Given the description of an element on the screen output the (x, y) to click on. 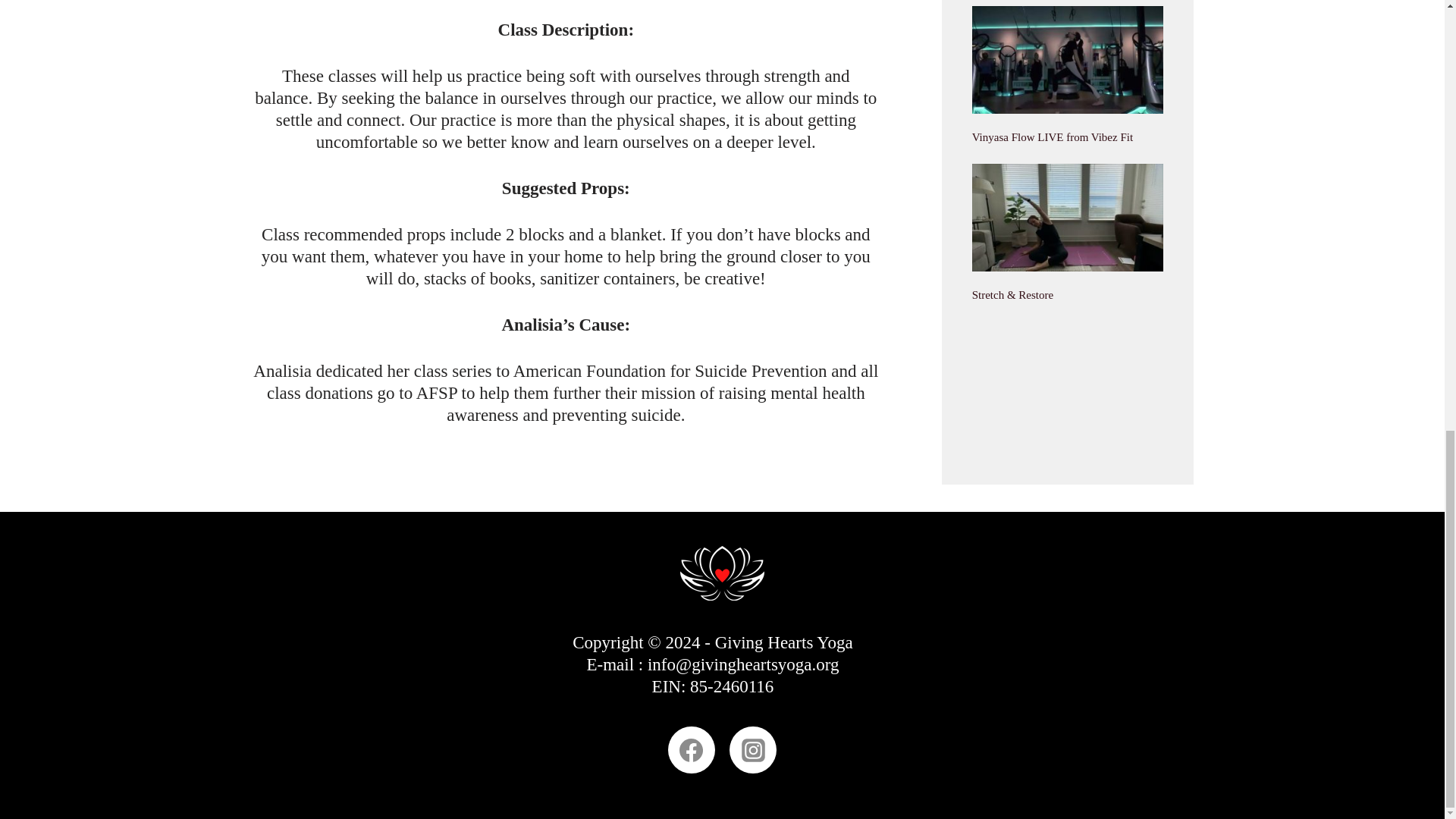
Vinyasa Flow LIVE from Vibez Fit (1052, 137)
